Given the description of an element on the screen output the (x, y) to click on. 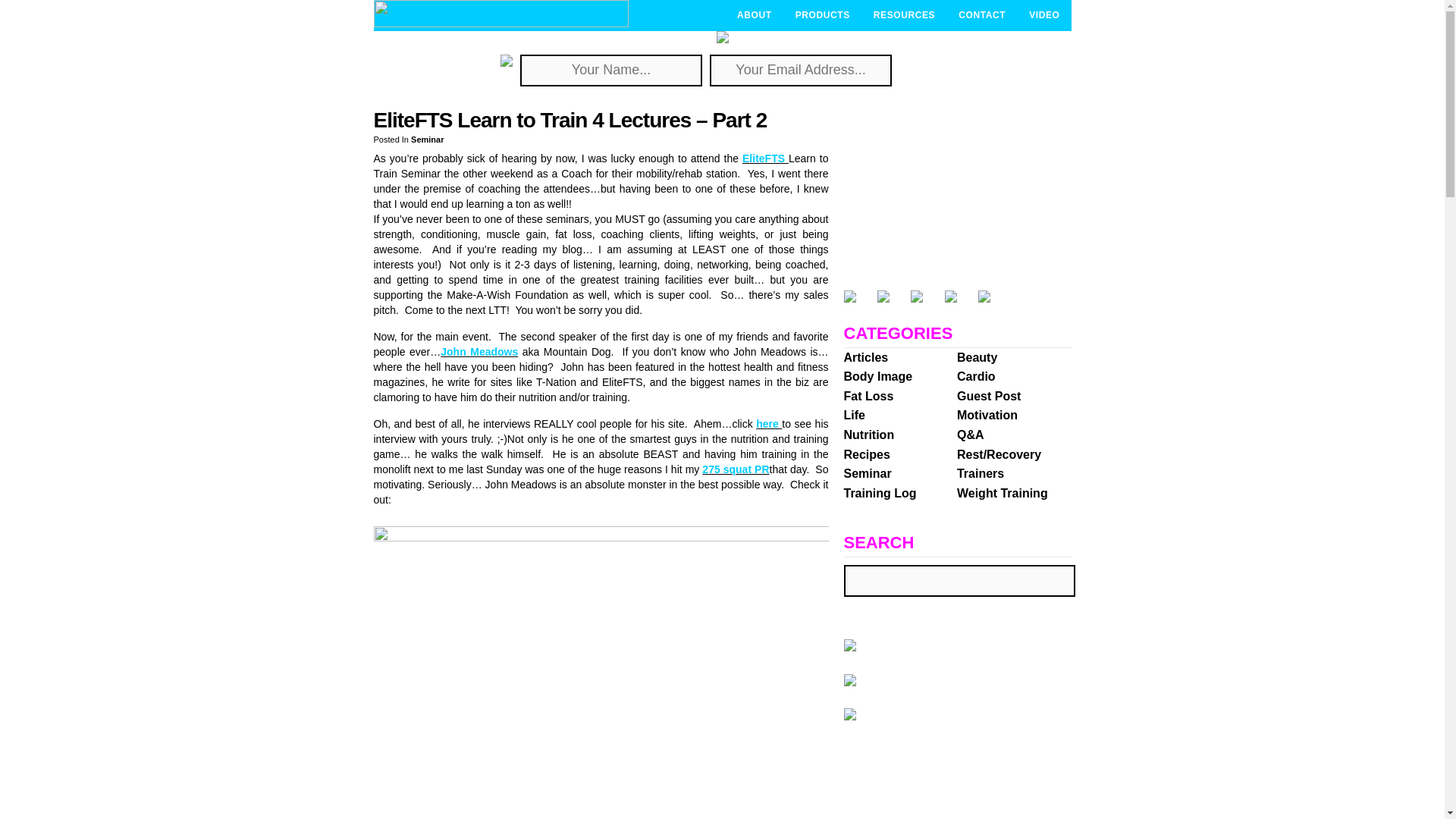
PRODUCTS (822, 15)
0 (783, 119)
ABOUT (754, 15)
John Meadows pic (600, 672)
EliteFTS (765, 158)
Seminar (427, 139)
VIDEO (1043, 15)
here (768, 423)
John Meadows (479, 351)
RESOURCES (903, 15)
